Given the description of an element on the screen output the (x, y) to click on. 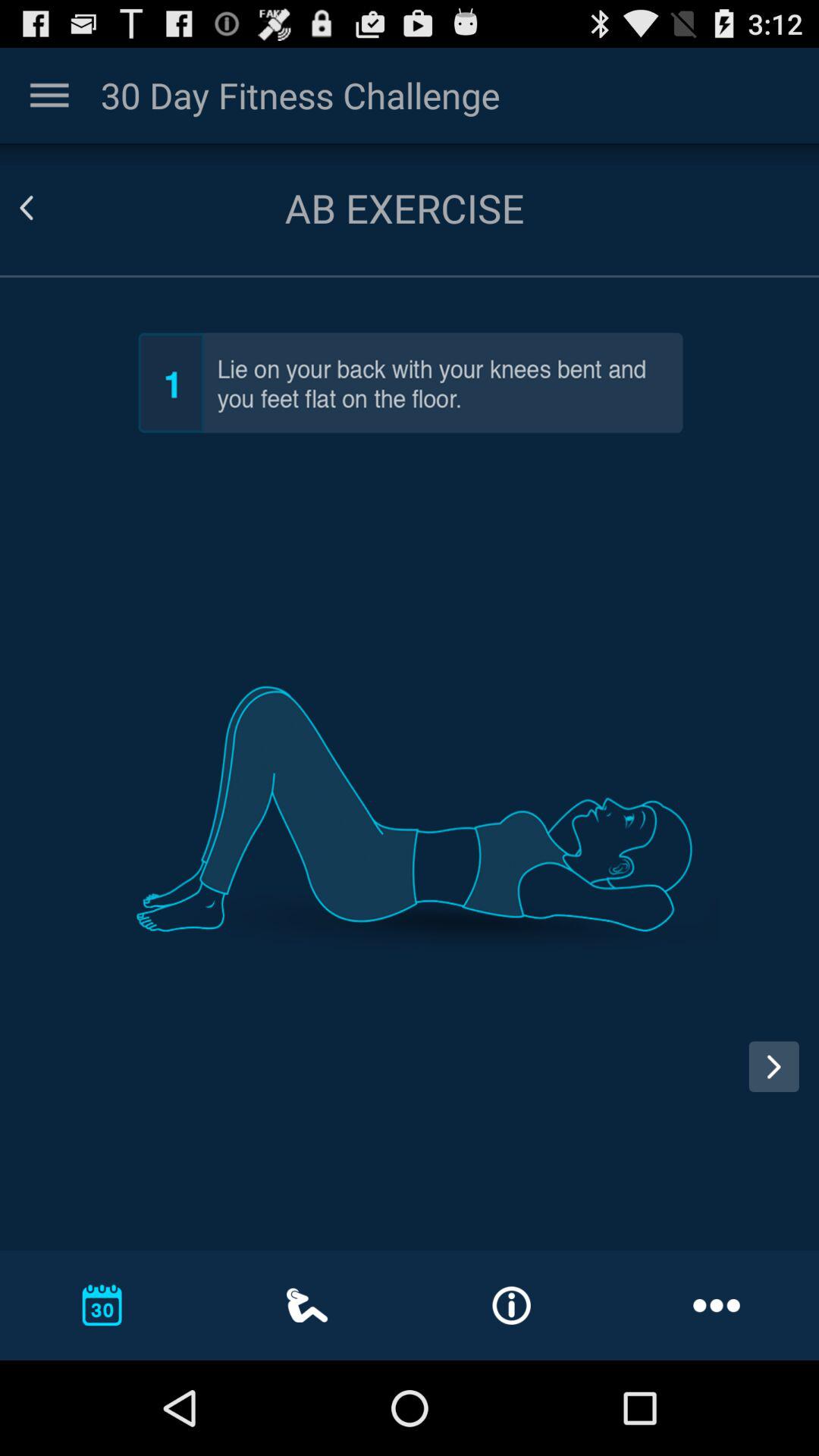
go to next (779, 1081)
